Given the description of an element on the screen output the (x, y) to click on. 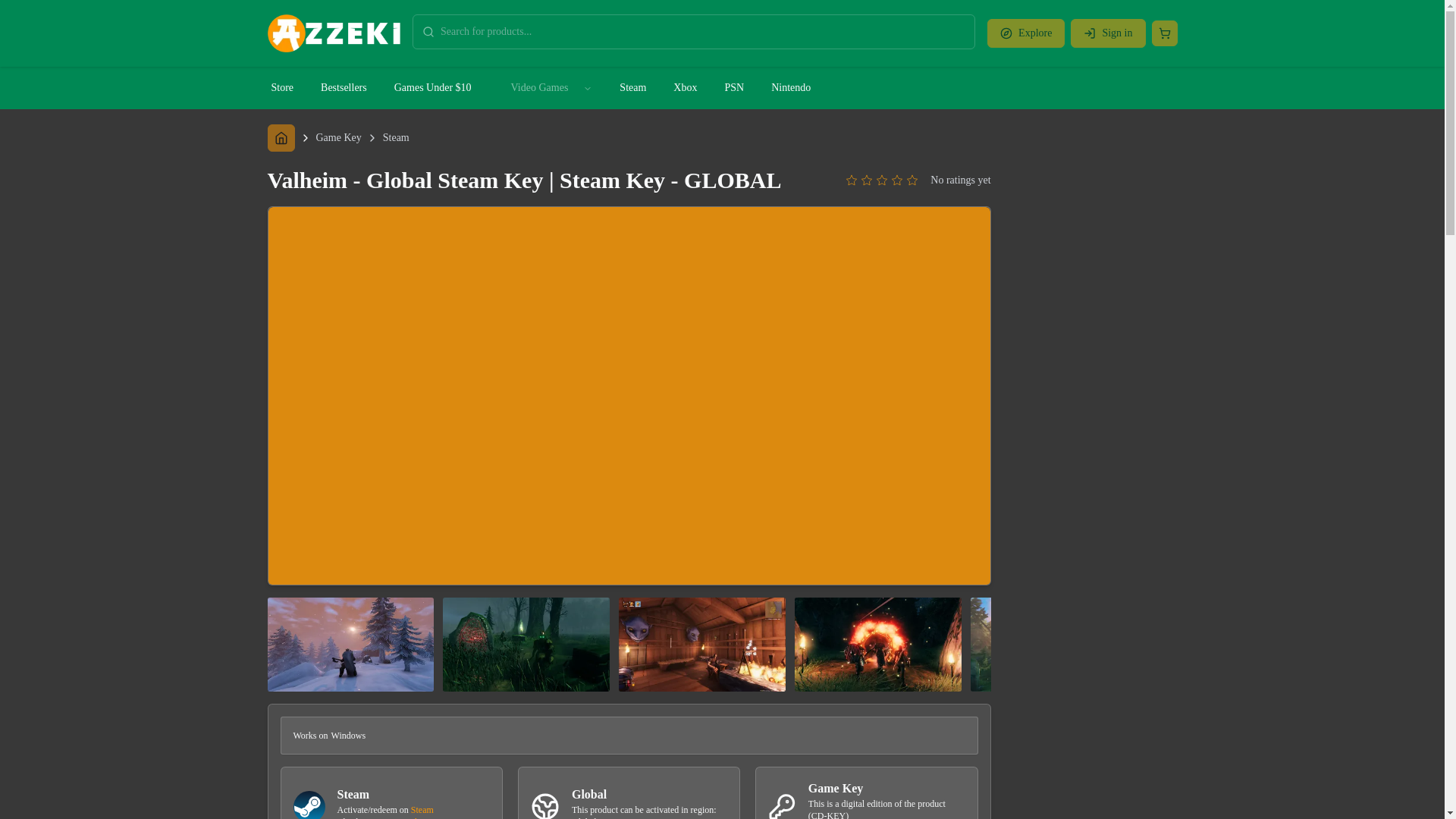
Explore (1025, 32)
Store (282, 87)
Steam (395, 137)
Bestsellers (343, 87)
activation guide (391, 817)
Nintendo (790, 87)
Steam (421, 809)
Video Games (539, 87)
PSN (733, 87)
Game Key (338, 137)
